Given the description of an element on the screen output the (x, y) to click on. 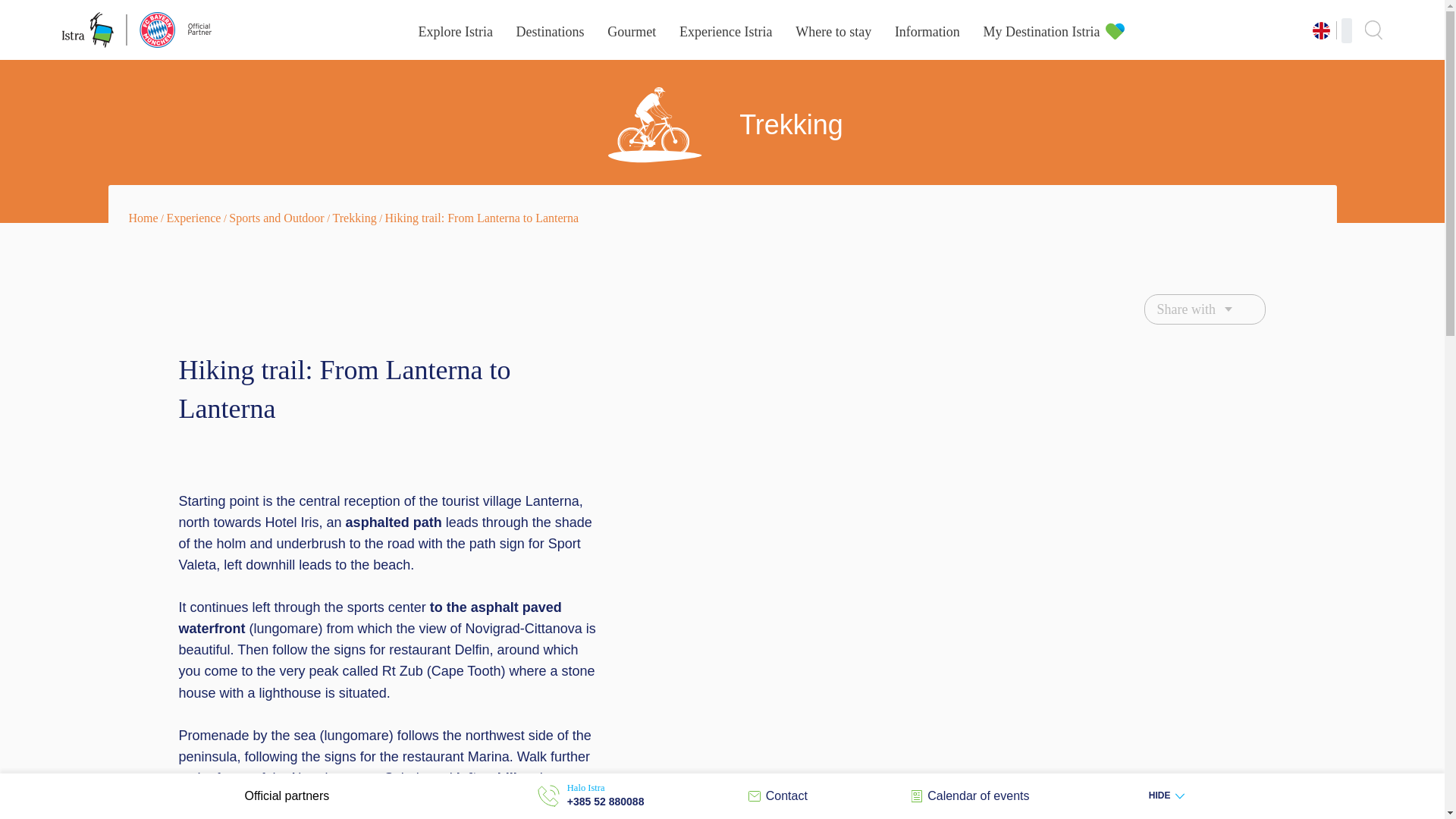
My Destination Istria (1042, 31)
Experience (194, 217)
Sports and Outdoor (275, 217)
Where to stay (832, 31)
Explore Istria (454, 31)
Experience Istria (725, 31)
Home (143, 217)
Information (927, 31)
Destinations (550, 31)
Gourmet (631, 31)
Hiking trail: From Lanterna to Lanterna (481, 217)
Trekking (355, 217)
